Given the description of an element on the screen output the (x, y) to click on. 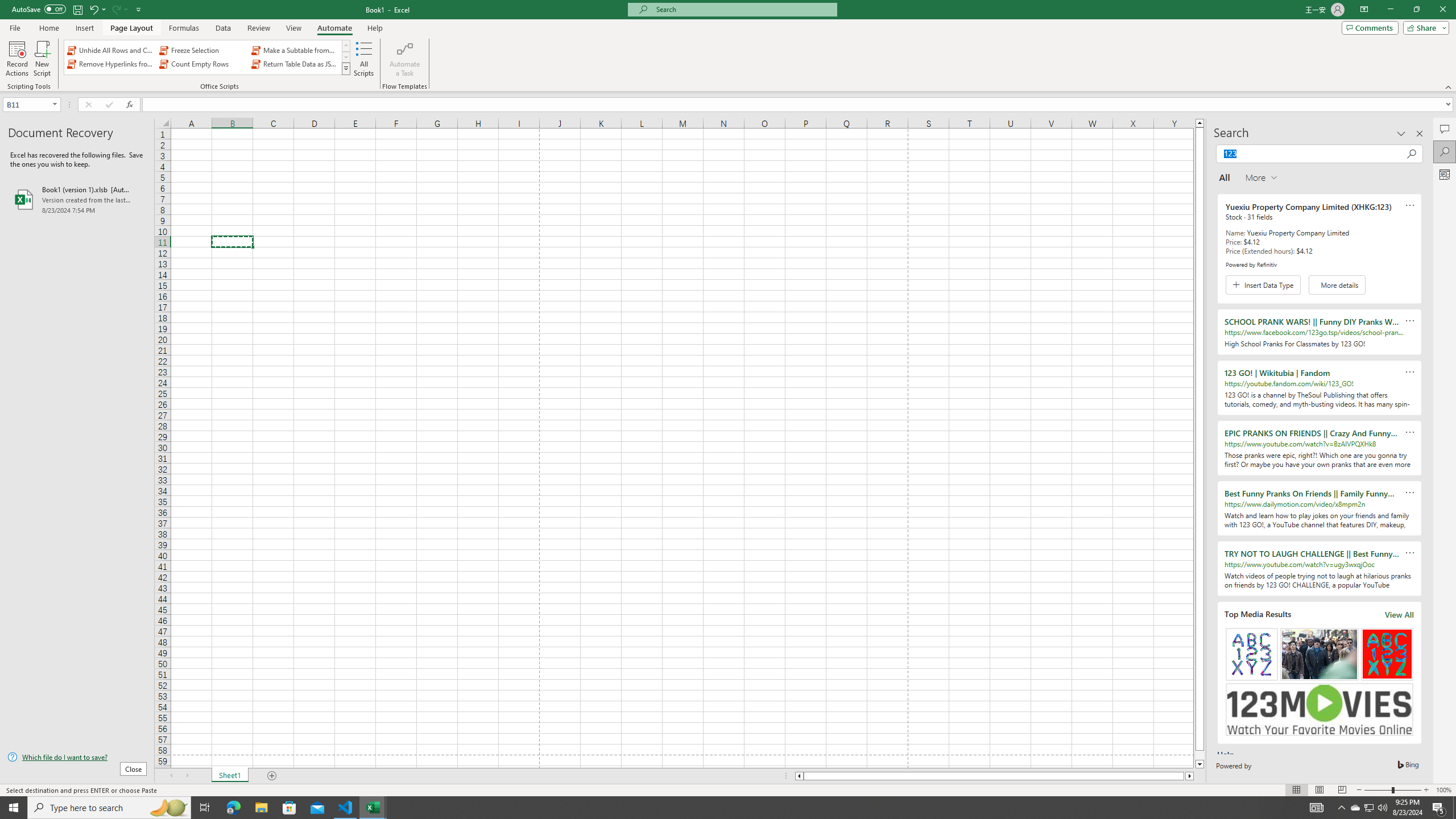
Record Actions (17, 58)
